Given the description of an element on the screen output the (x, y) to click on. 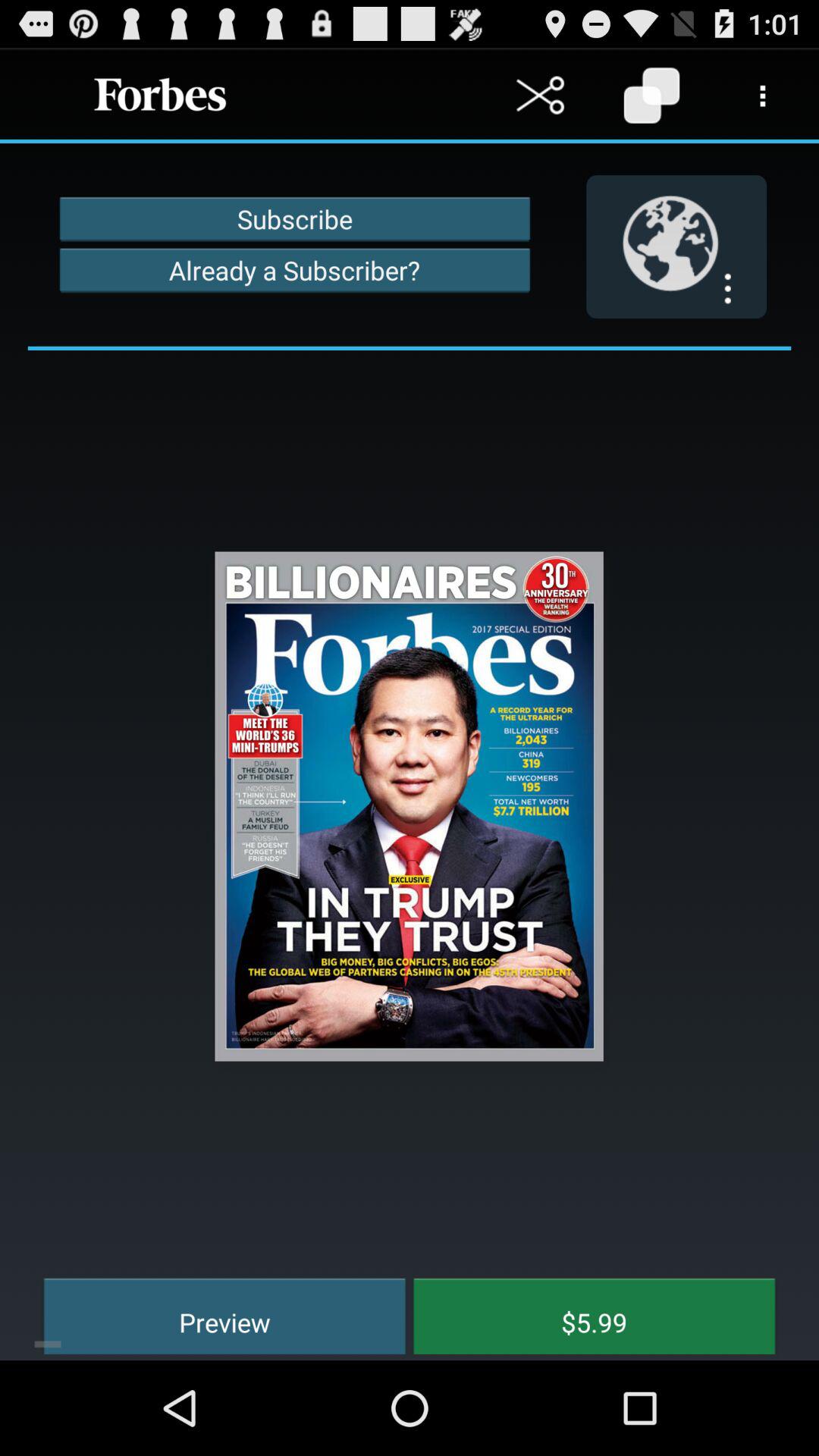
cut (540, 95)
